Given the description of an element on the screen output the (x, y) to click on. 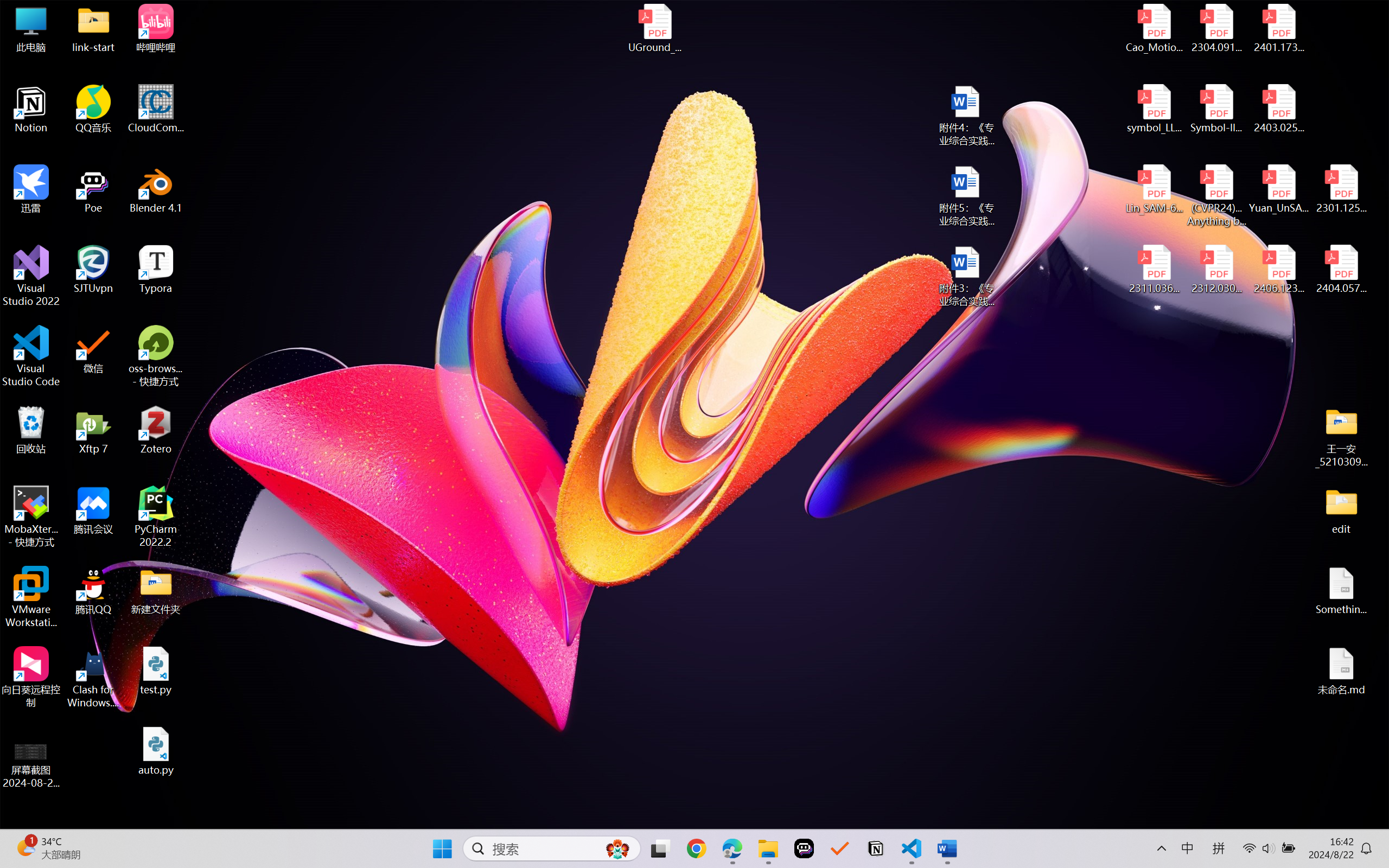
Google Chrome (696, 848)
test.py (156, 670)
(CVPR24)Matching Anything by Segmenting Anything.pdf (1216, 195)
Symbol-llm-v2.pdf (1216, 109)
2301.12597v3.pdf (1340, 189)
2403.02502v1.pdf (1278, 109)
